Given the description of an element on the screen output the (x, y) to click on. 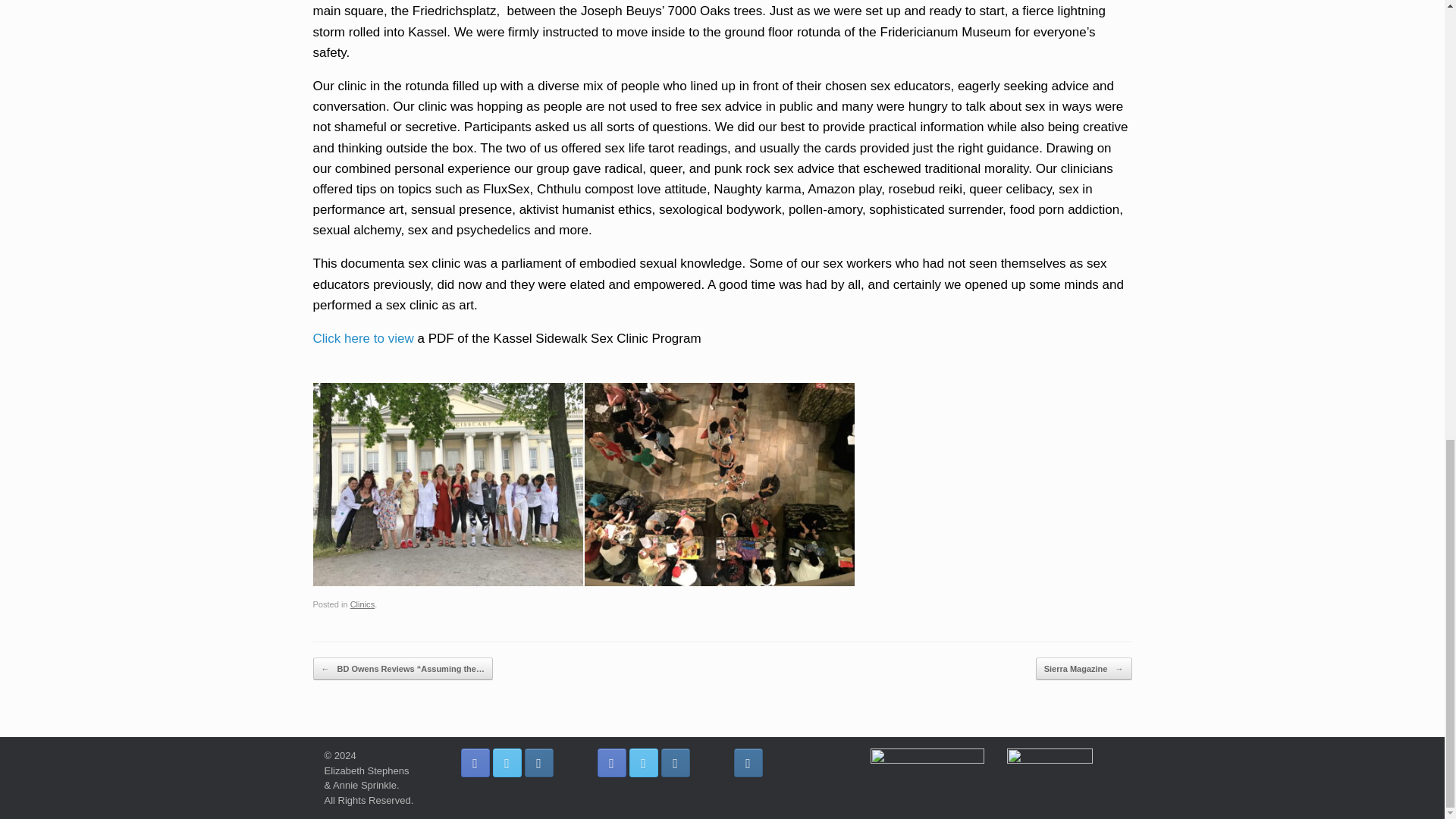
E.A.R.T.H.Lab SF Instagram (538, 762)
E.A.R.T.H.Lab SF Facebook (475, 762)
Clinics (362, 604)
E.A.R.T.H.Lab SF Instagram (747, 762)
E.A.R.T.H.Lab SF Instagram (675, 762)
E.A.R.T.H.Lab SF Facebook (611, 762)
Venmo (927, 759)
Click here to view (363, 338)
